Given the description of an element on the screen output the (x, y) to click on. 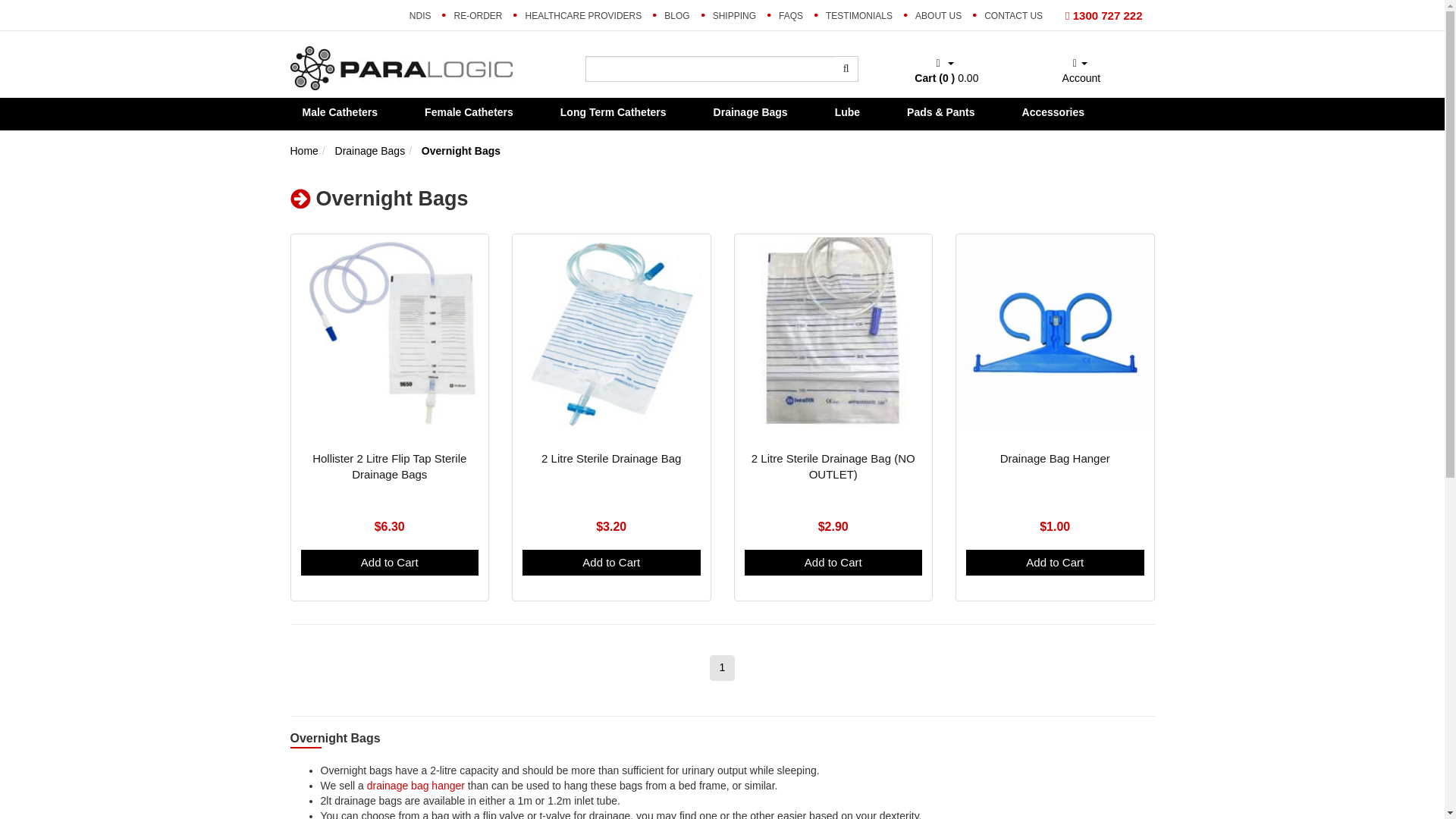
Paralogic (400, 67)
Add to Cart (389, 561)
RE-ORDER (477, 14)
Drainage Bag Hanger (1054, 458)
 Account (1079, 71)
SHIPPING (734, 14)
Add to Cart (1055, 561)
NDIS (419, 14)
TESTIMONIALS (858, 14)
Add to Cart (611, 561)
